Given the description of an element on the screen output the (x, y) to click on. 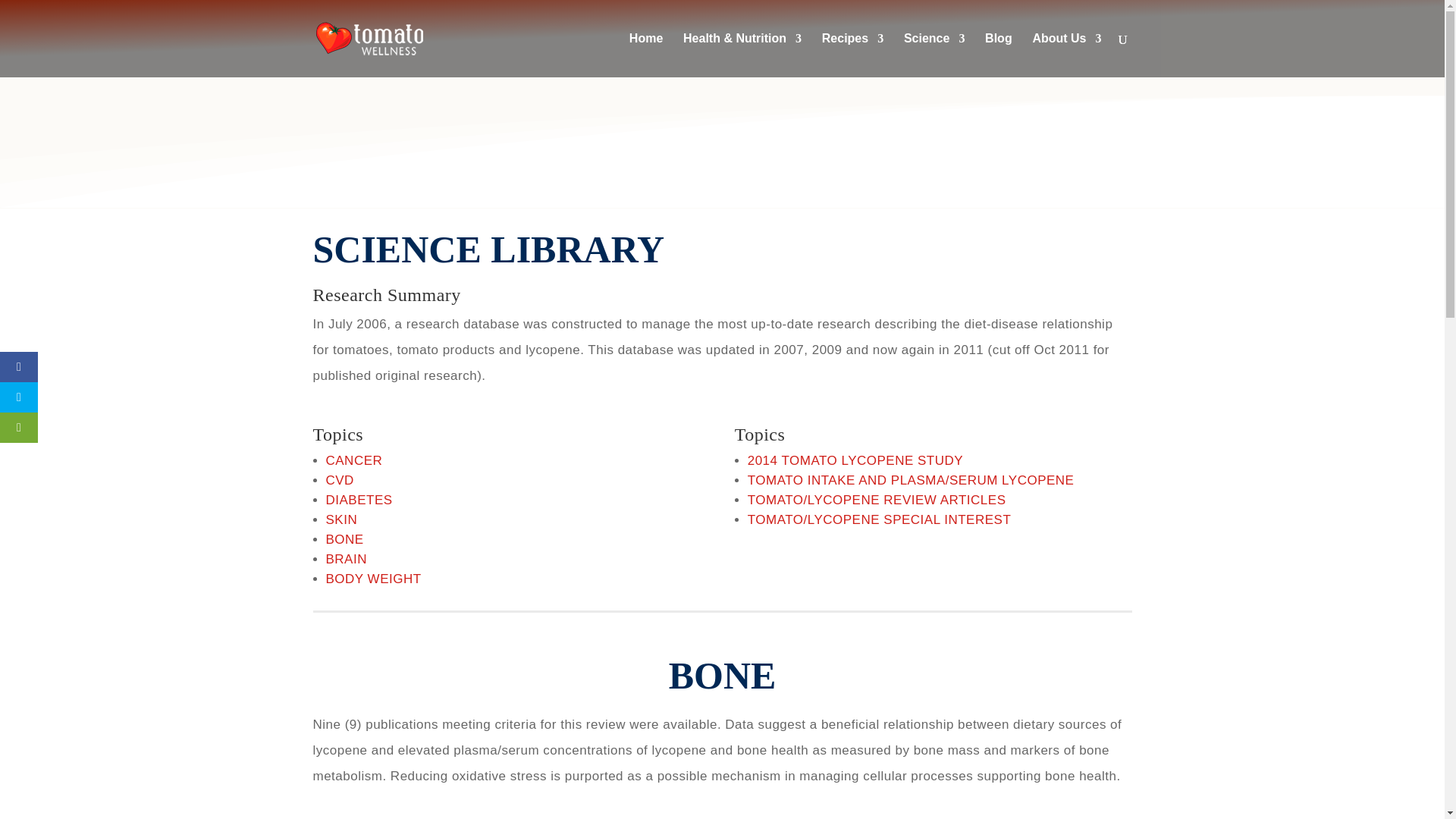
Recipes (852, 54)
About Us (1066, 54)
Science (933, 54)
